Given the description of an element on the screen output the (x, y) to click on. 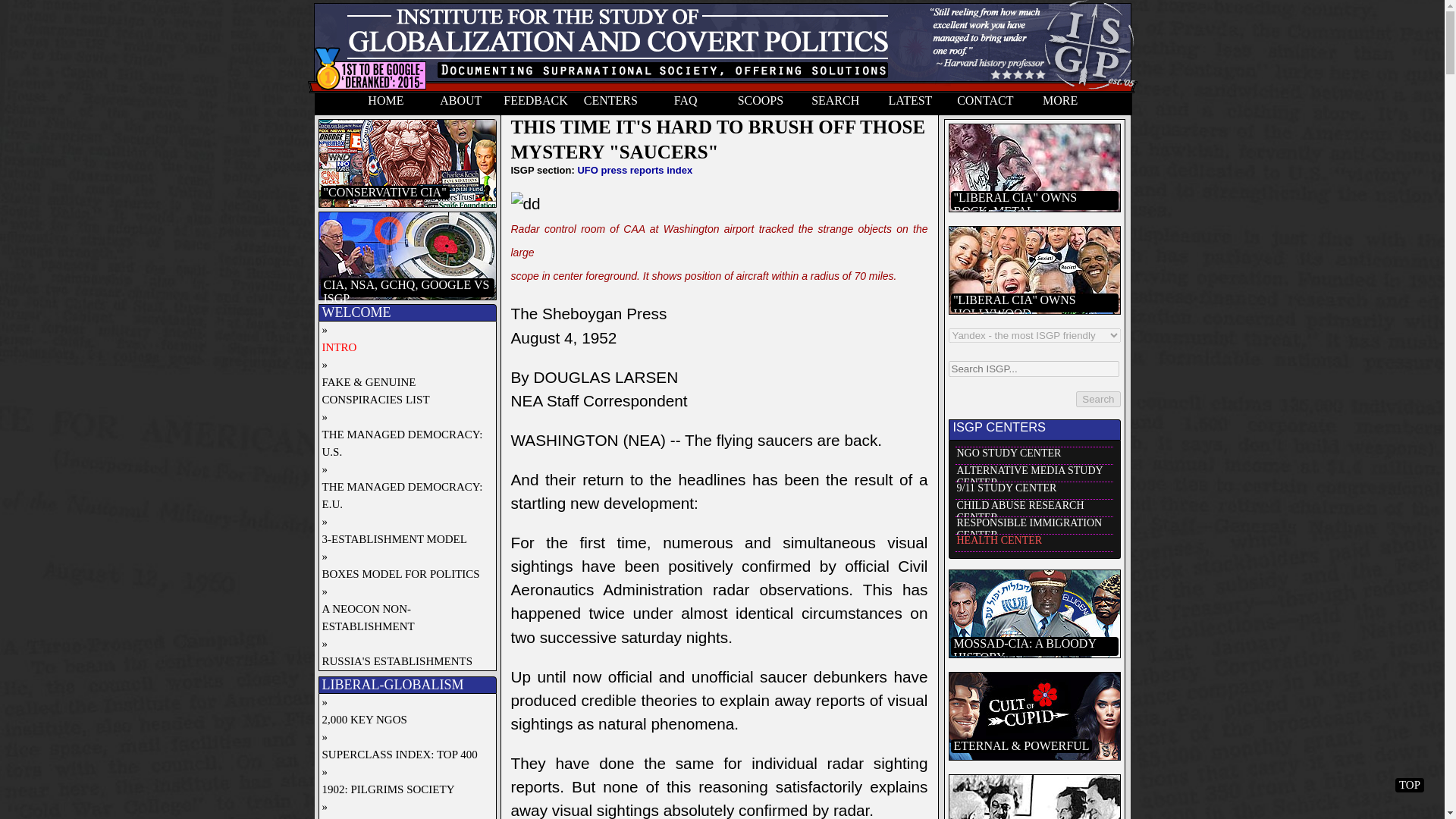
SEARCH (834, 103)
CONTACT (985, 103)
MORE (1060, 103)
INTRO (403, 347)
FEEDBACK (535, 103)
THE MANAGED DEMOCRACY: E.U. (403, 495)
2,000 KEY NGOS (403, 719)
ABOUT (460, 103)
CENTERS (610, 103)
LATEST (910, 103)
LIBERAL-GLOBALISM (408, 684)
CIA, NSA, GCHQ, GOOGLE VS ISGP (406, 295)
1902: PILGRIMS SOCIETY (403, 789)
BOXES MODEL FOR POLITICS (403, 574)
A NEOCON NON-ESTABLISHMENT (403, 617)
